Given the description of an element on the screen output the (x, y) to click on. 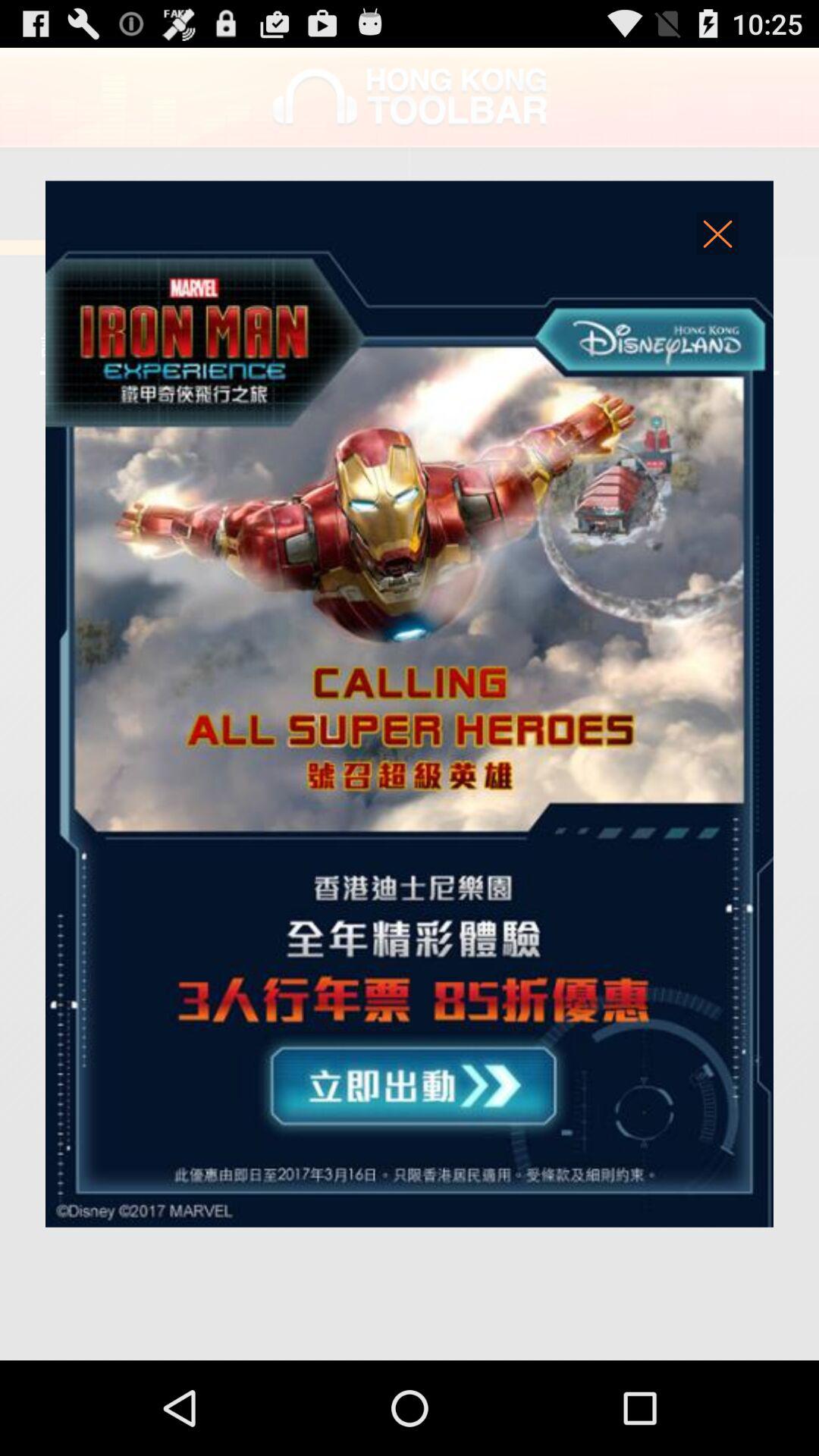
close the window in question (718, 238)
